Given the description of an element on the screen output the (x, y) to click on. 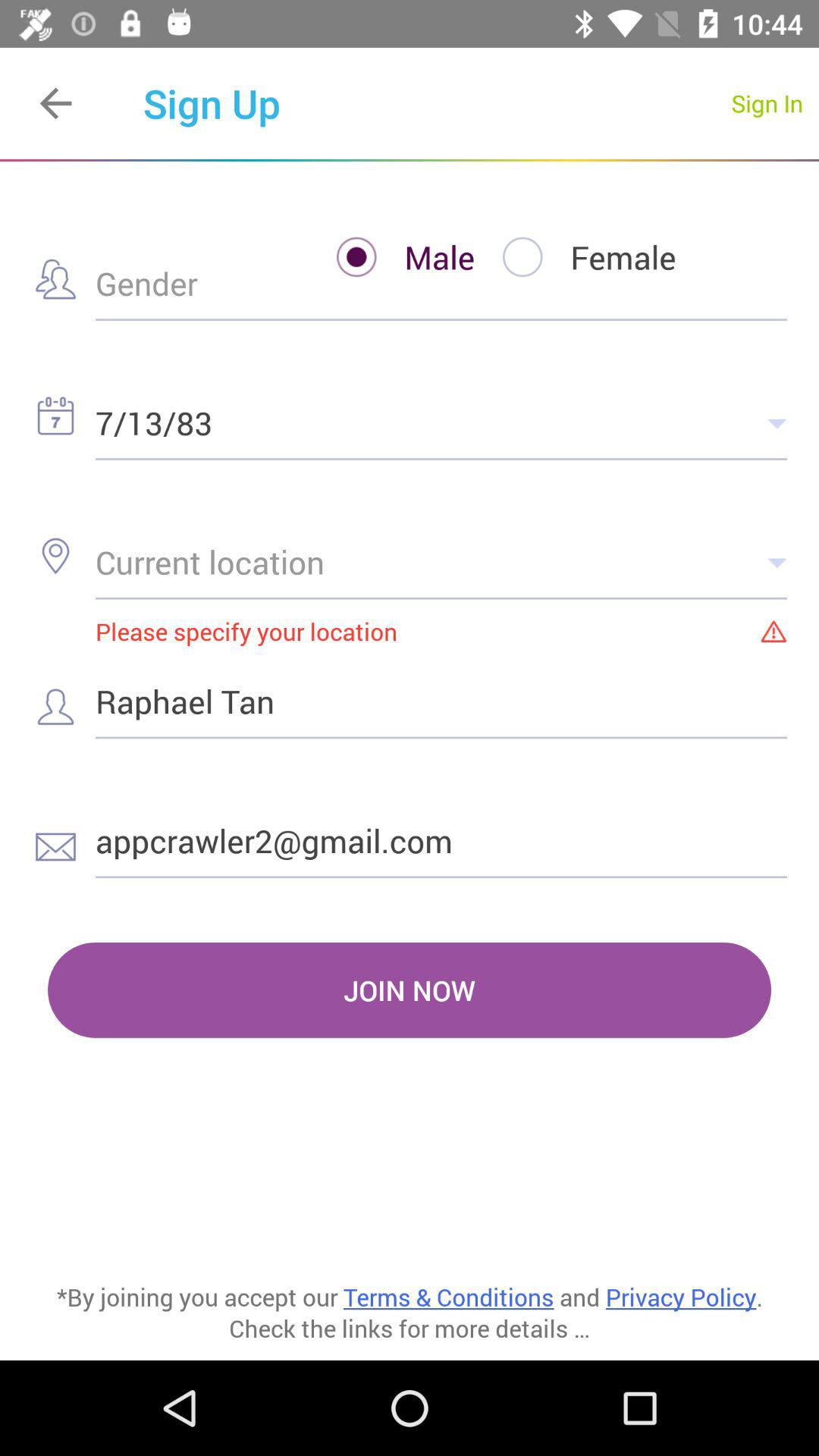
select the icon below the 7/13/83 item (441, 561)
